Given the description of an element on the screen output the (x, y) to click on. 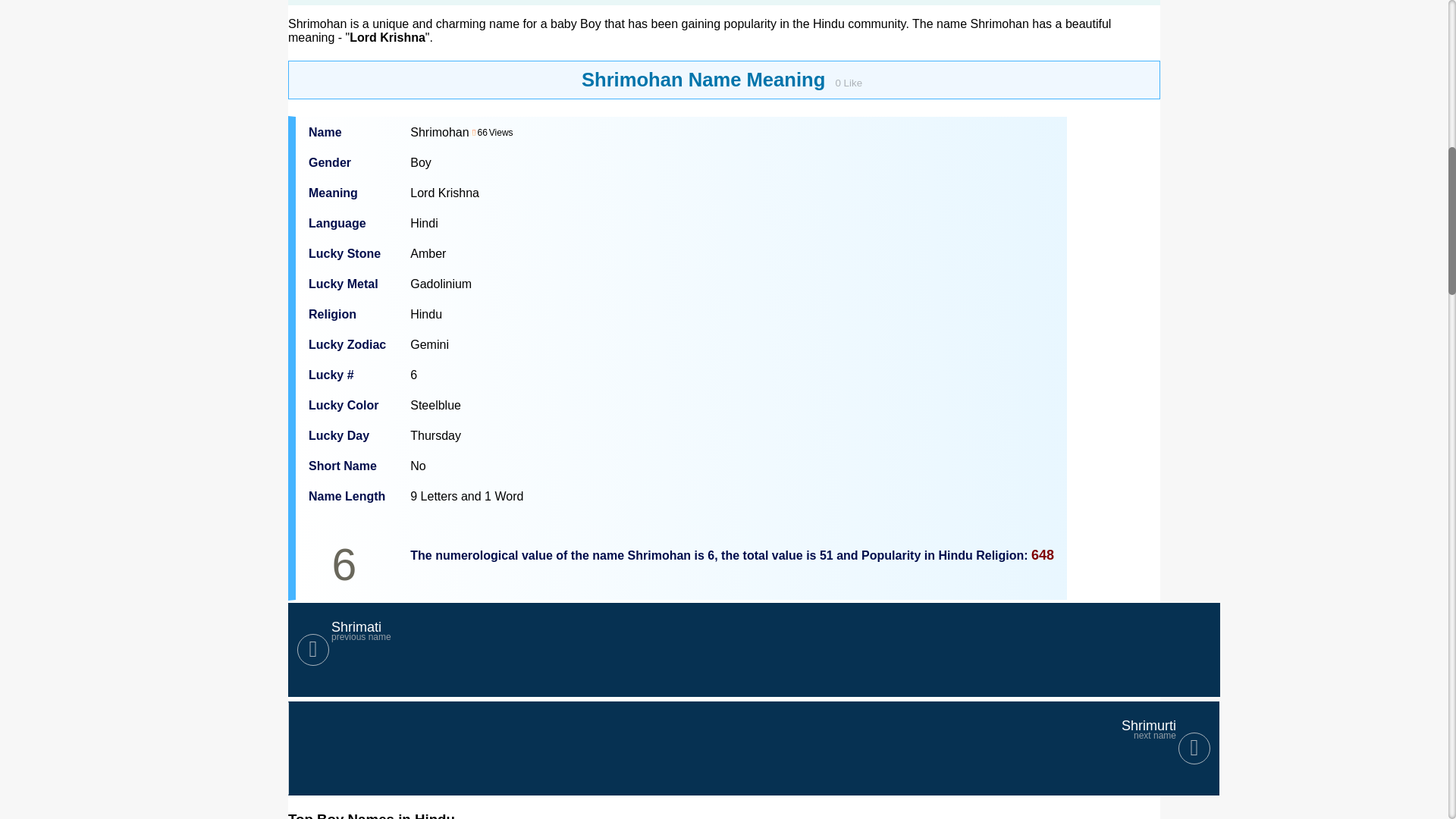
Shrimurti (754, 748)
Shrimati (754, 649)
0 Like (754, 649)
